Given the description of an element on the screen output the (x, y) to click on. 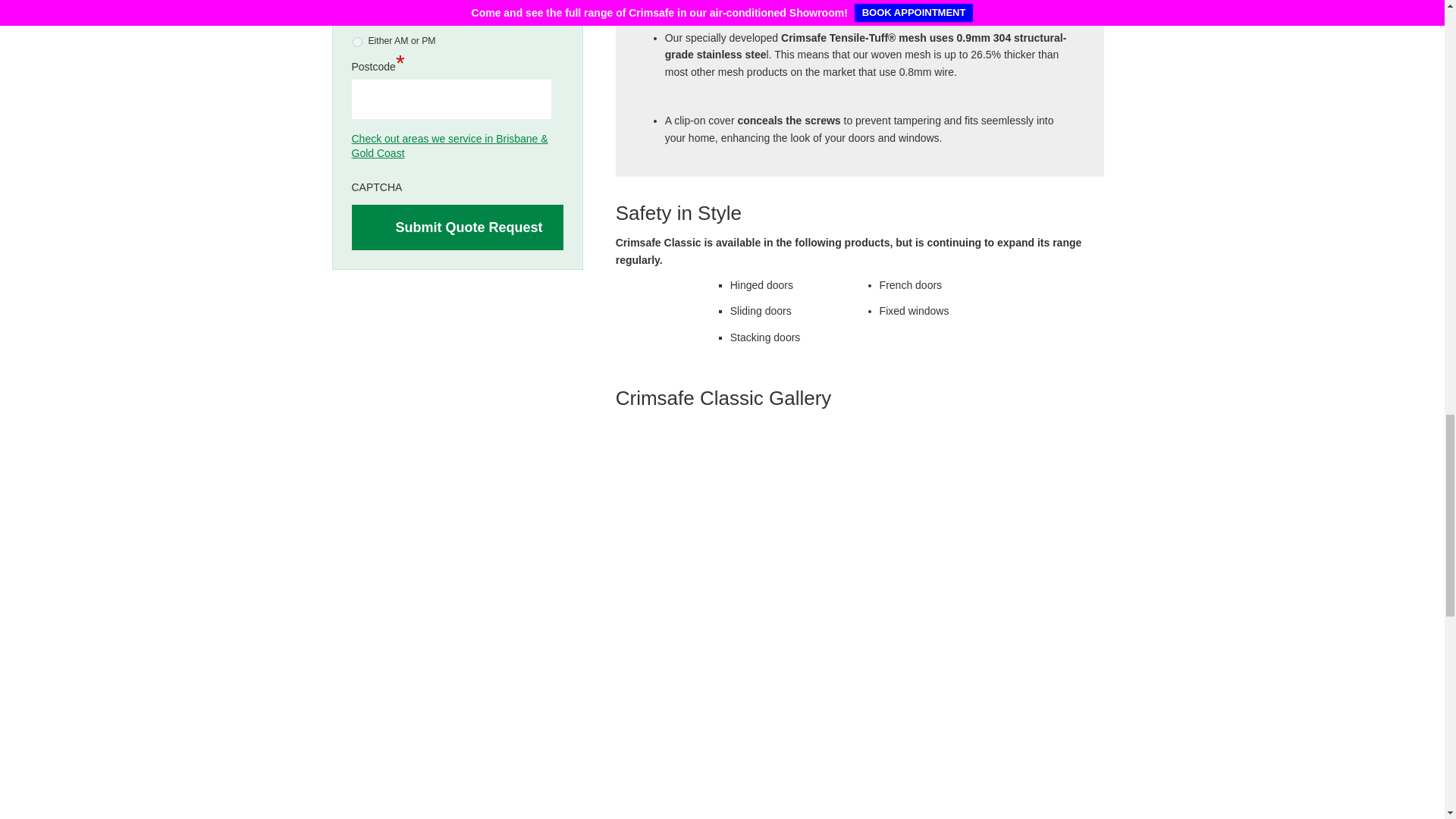
Submit Quote Request (458, 227)
AM (356, 2)
Either AM or PM (356, 41)
PM (356, 20)
